Given the description of an element on the screen output the (x, y) to click on. 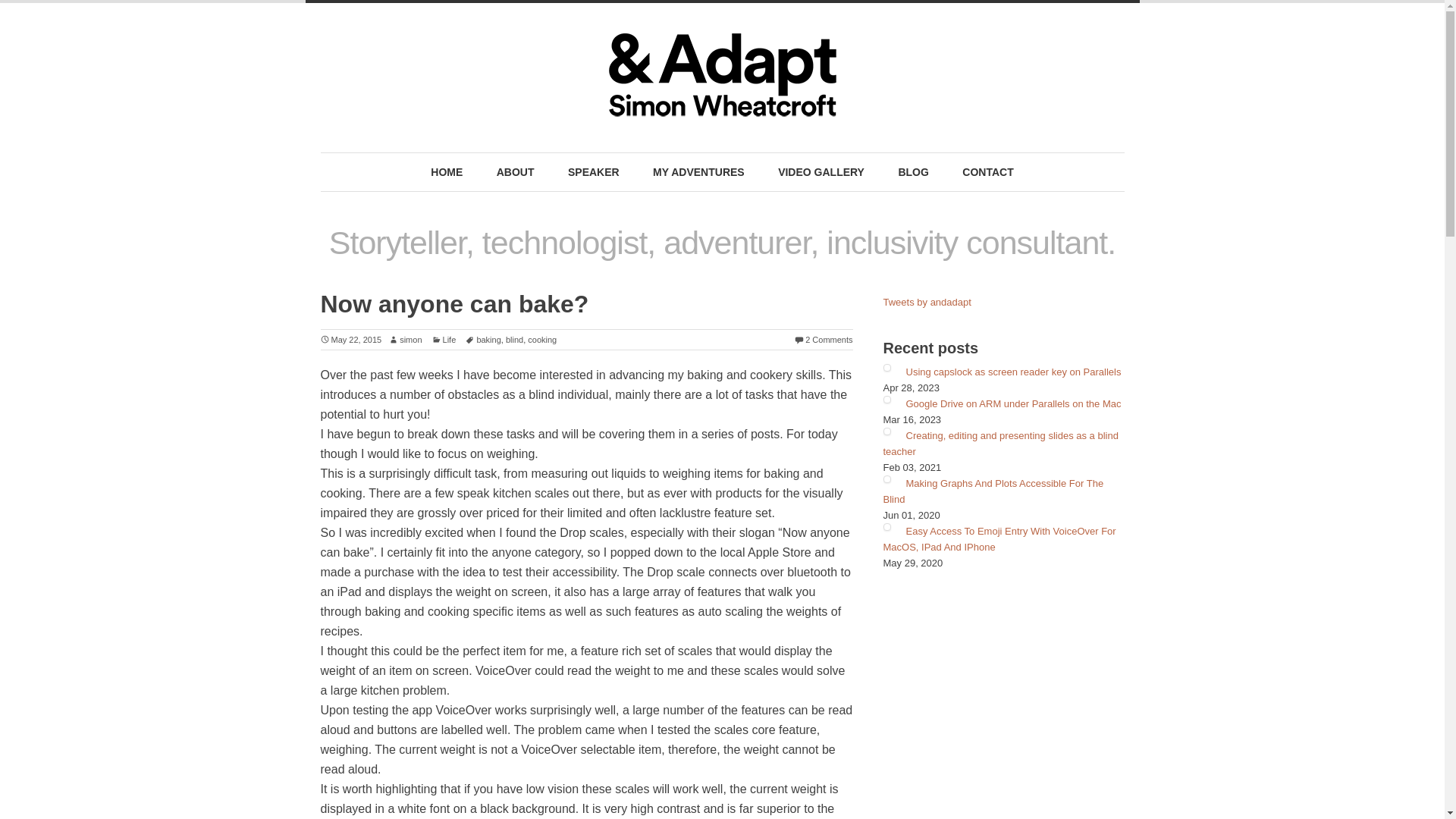
cooking (541, 338)
Making Graphs And Plots Accessible For The Blind (992, 491)
Creating, editing and presenting slides as a blind teacher (1000, 443)
VIDEO GALLERY (820, 172)
ABOUT (515, 172)
Google Drive on ARM  under Parallels on the Mac (1013, 403)
View all posts by simon (405, 338)
Creating, editing and presenting slides as a blind teacher (1000, 443)
CONTACT (987, 172)
Life (444, 338)
Using capslock as screen reader key on Parallels (1013, 371)
May 22, 2015 (350, 338)
blind (513, 338)
Making Graphs And Plots Accessible For The Blind (992, 491)
